Given the description of an element on the screen output the (x, y) to click on. 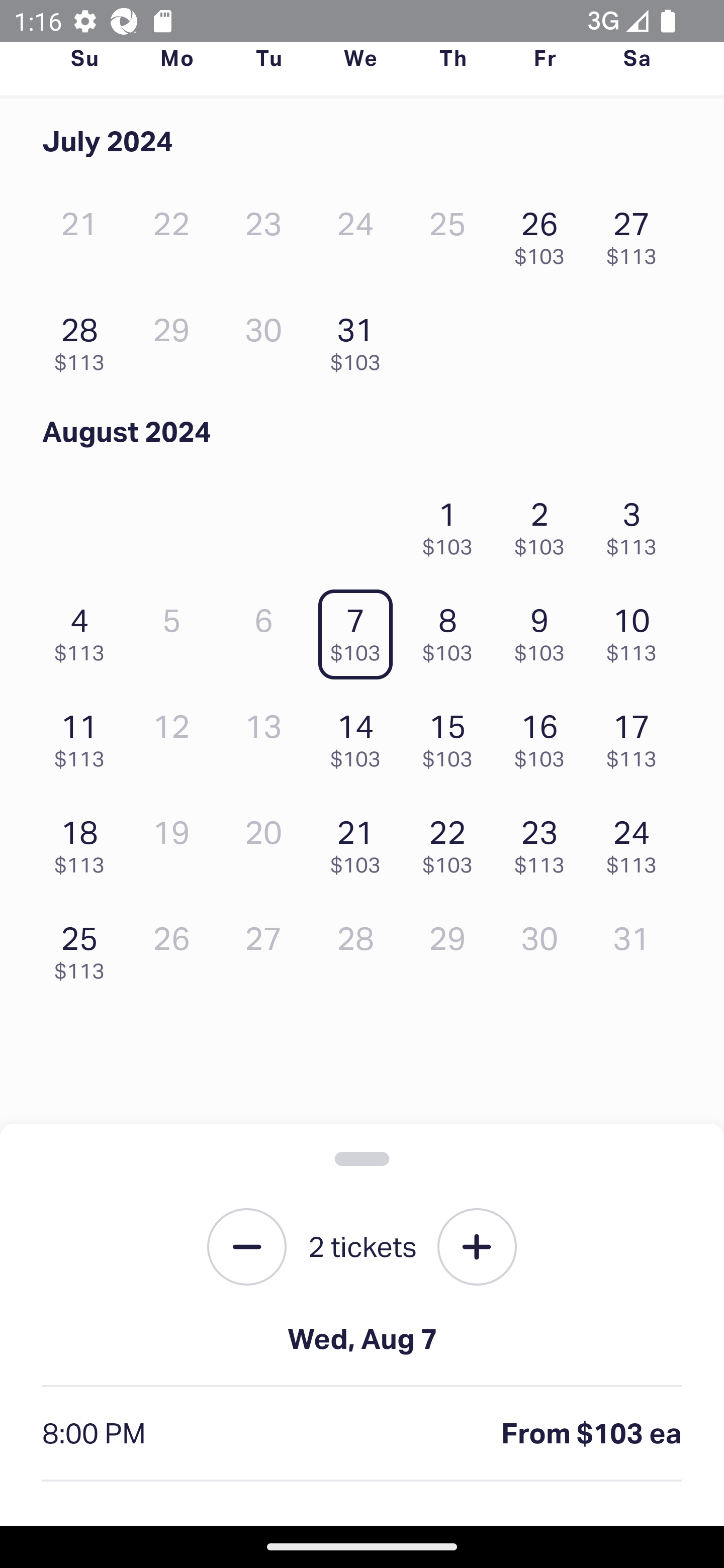
26 $103 (544, 232)
27 $113 (636, 232)
28 $113 (84, 339)
31 $103 (360, 339)
1 $103 (452, 524)
2 $103 (544, 524)
3 $113 (636, 524)
4 $113 (84, 629)
7 $103 (360, 629)
8 $103 (452, 629)
9 $103 (544, 629)
10 $113 (636, 629)
11 $113 (84, 735)
14 $103 (360, 735)
15 $103 (452, 735)
16 $103 (544, 735)
17 $113 (636, 735)
18 $113 (84, 841)
21 $103 (360, 841)
22 $103 (452, 841)
23 $113 (544, 841)
24 $113 (636, 841)
25 $113 (84, 947)
8:00 PM From $103 ea (361, 1434)
